Given the description of an element on the screen output the (x, y) to click on. 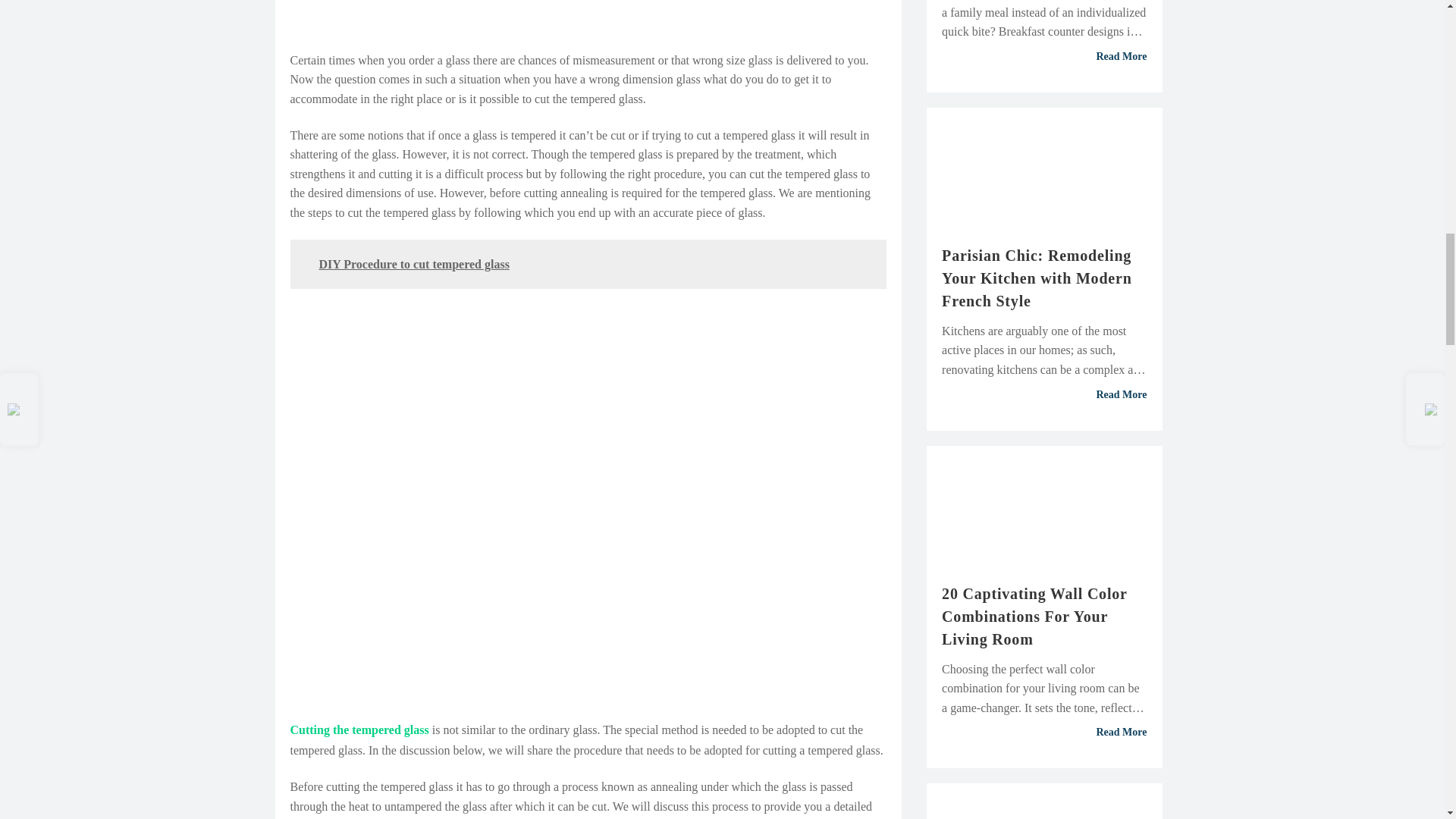
Cutting the tempered glass (358, 730)
Read More (1044, 56)
Read More (1044, 395)
20 Captivating Wall Color Combinations For Your Living Room (1044, 616)
